Given the description of an element on the screen output the (x, y) to click on. 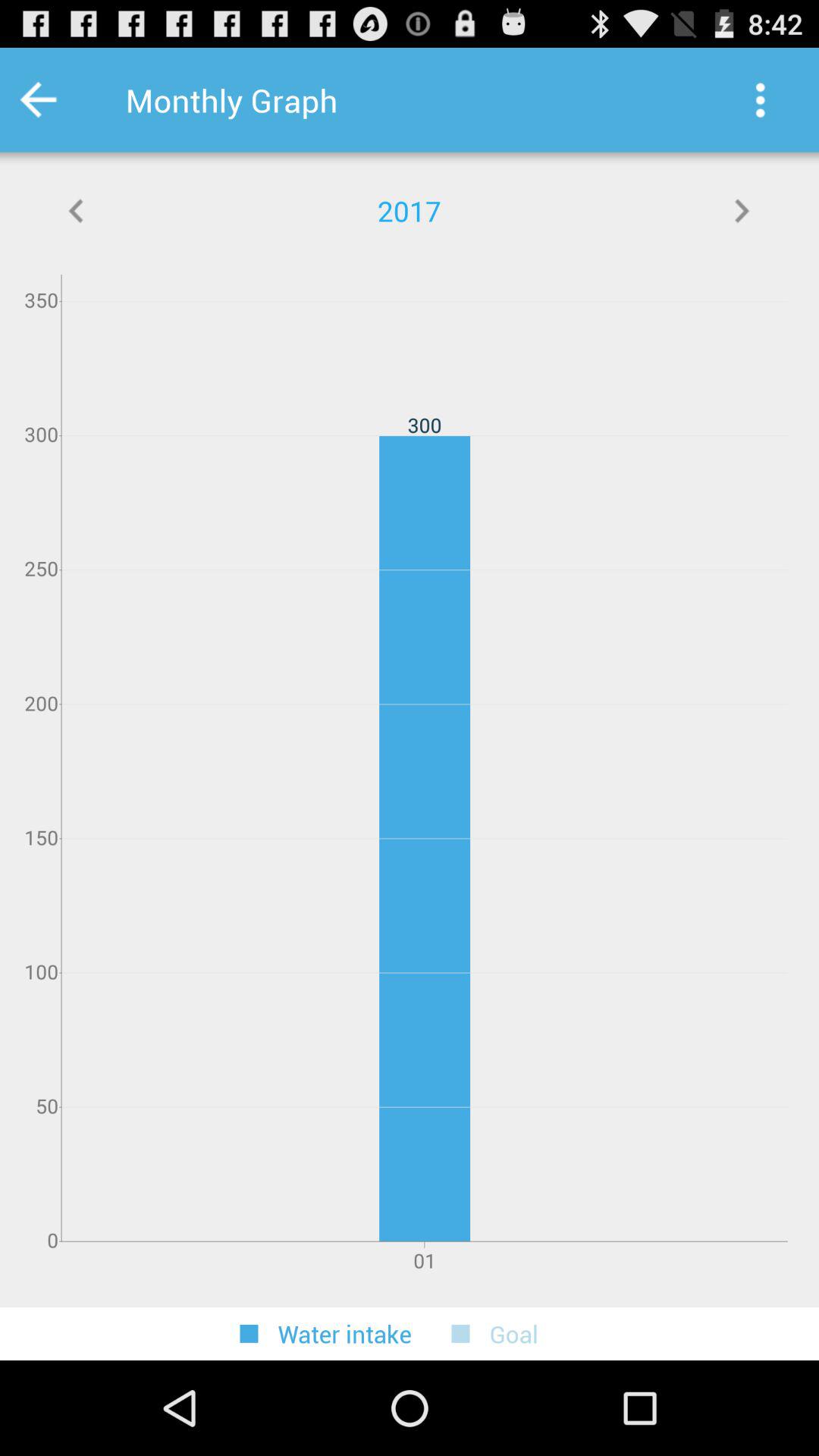
go back (58, 100)
